Given the description of an element on the screen output the (x, y) to click on. 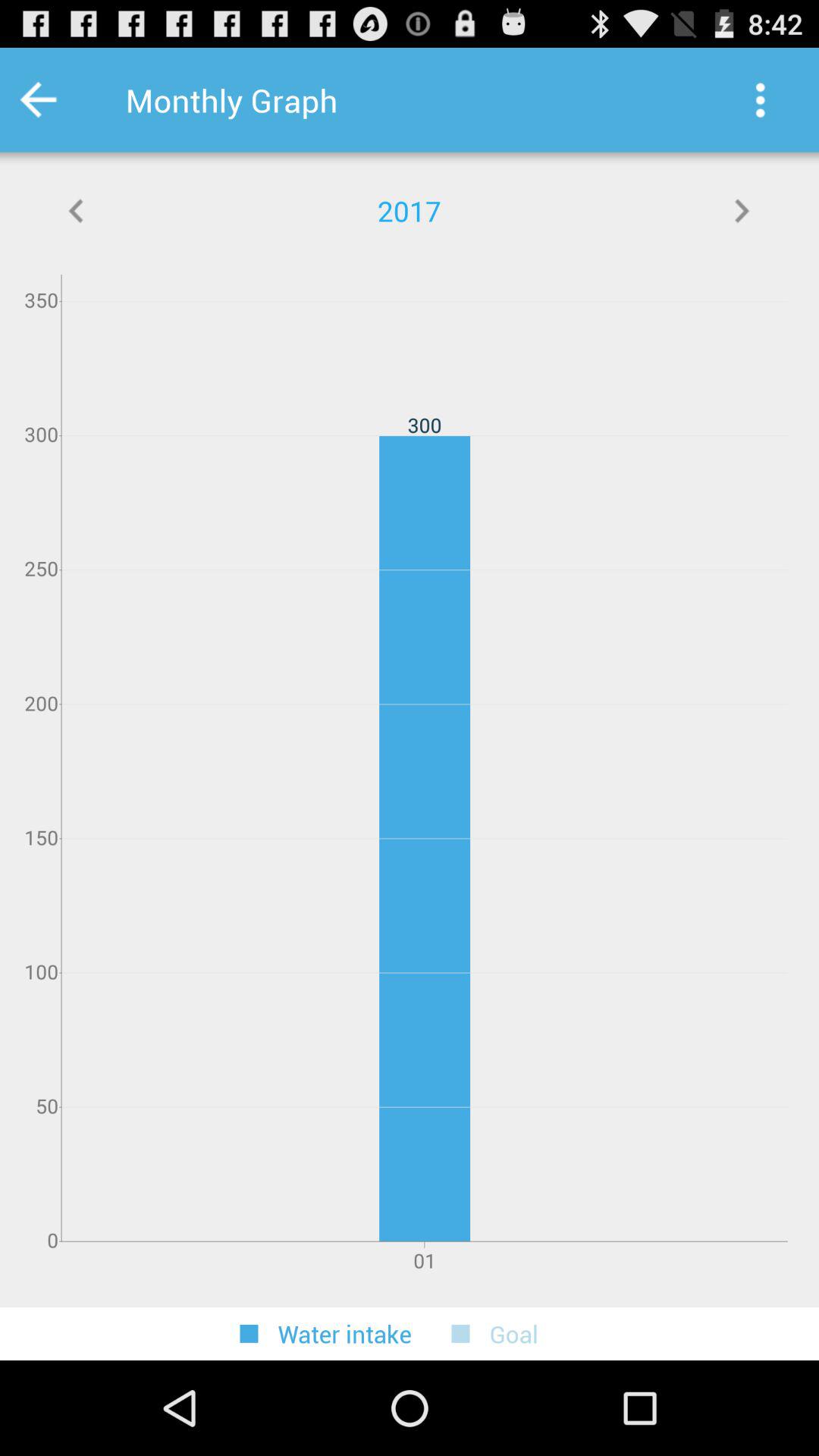
go back (58, 100)
